Given the description of an element on the screen output the (x, y) to click on. 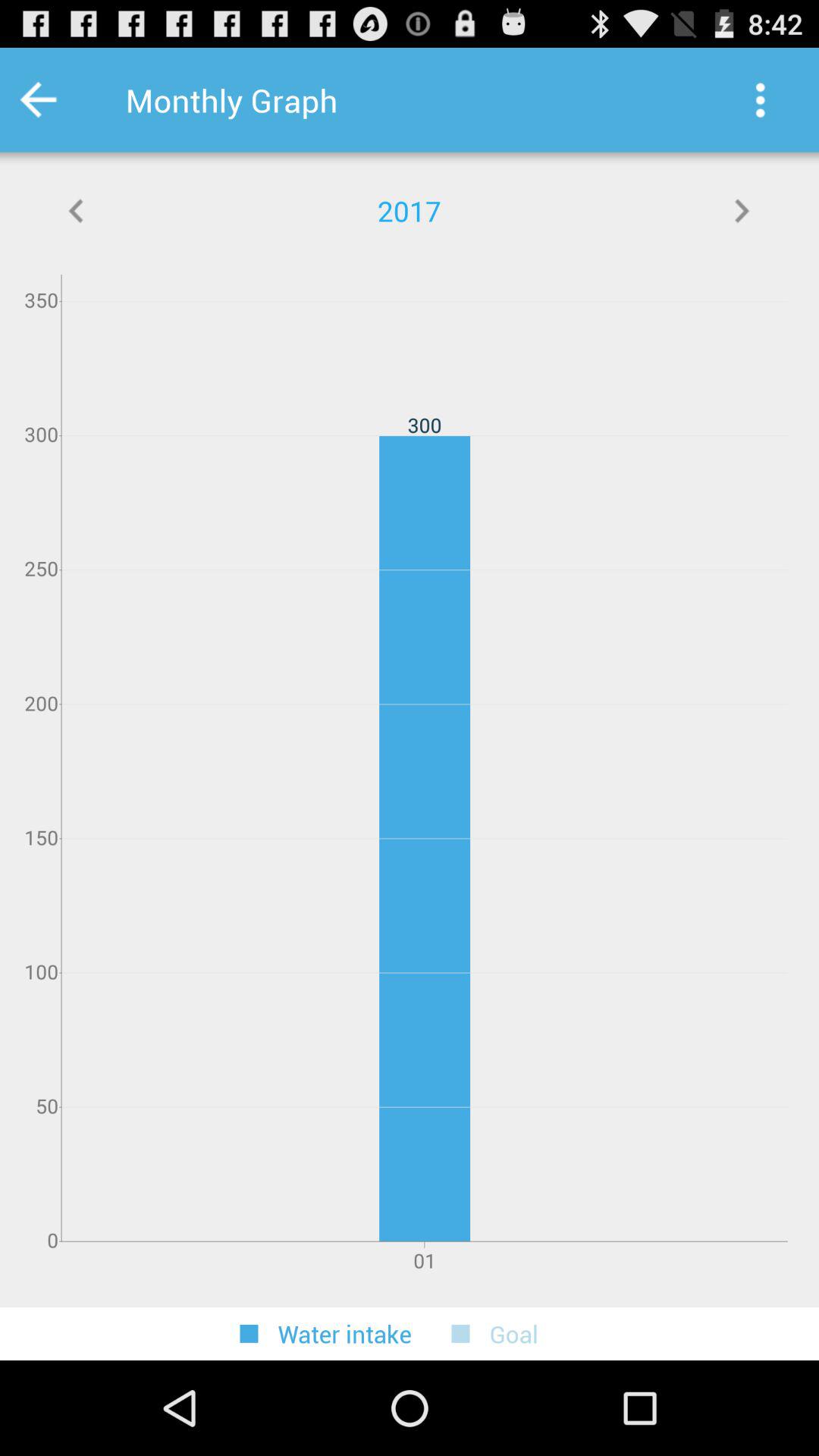
go back (58, 100)
